Given the description of an element on the screen output the (x, y) to click on. 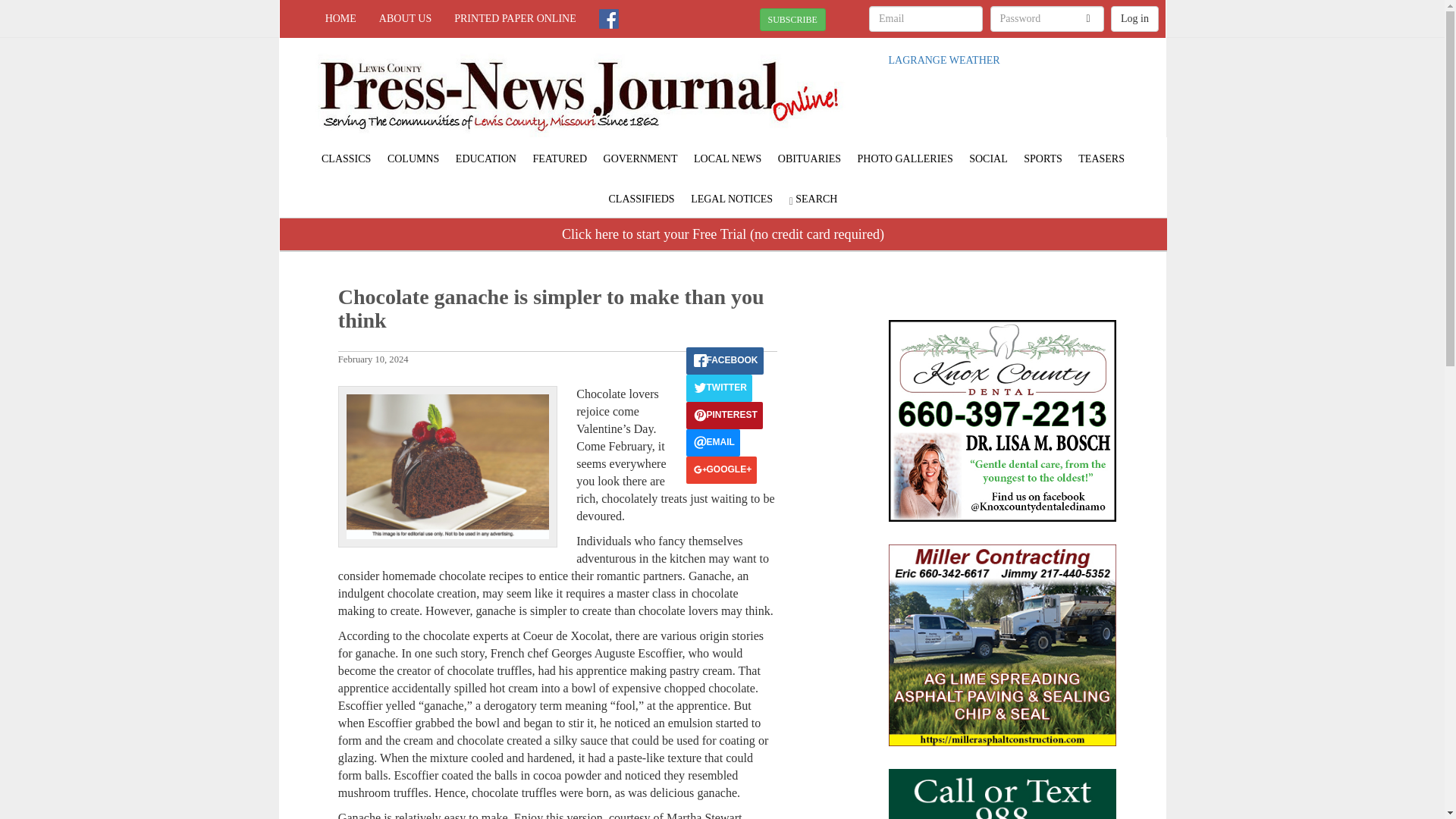
PRINTED PAPER ONLINE (515, 18)
Pinterest (723, 415)
SUBSCRIBE (792, 18)
PHOTO GALLERIES (904, 158)
Email (712, 442)
Facebook (723, 360)
OBITUARIES (809, 158)
HOME (341, 18)
LOCAL NEWS (727, 158)
Log in (1134, 18)
ABOUT US (405, 18)
FEATURED (559, 158)
COLUMNS (412, 158)
LAGRANGE WEATHER (944, 60)
SUBSCRIBE (792, 19)
